Given the description of an element on the screen output the (x, y) to click on. 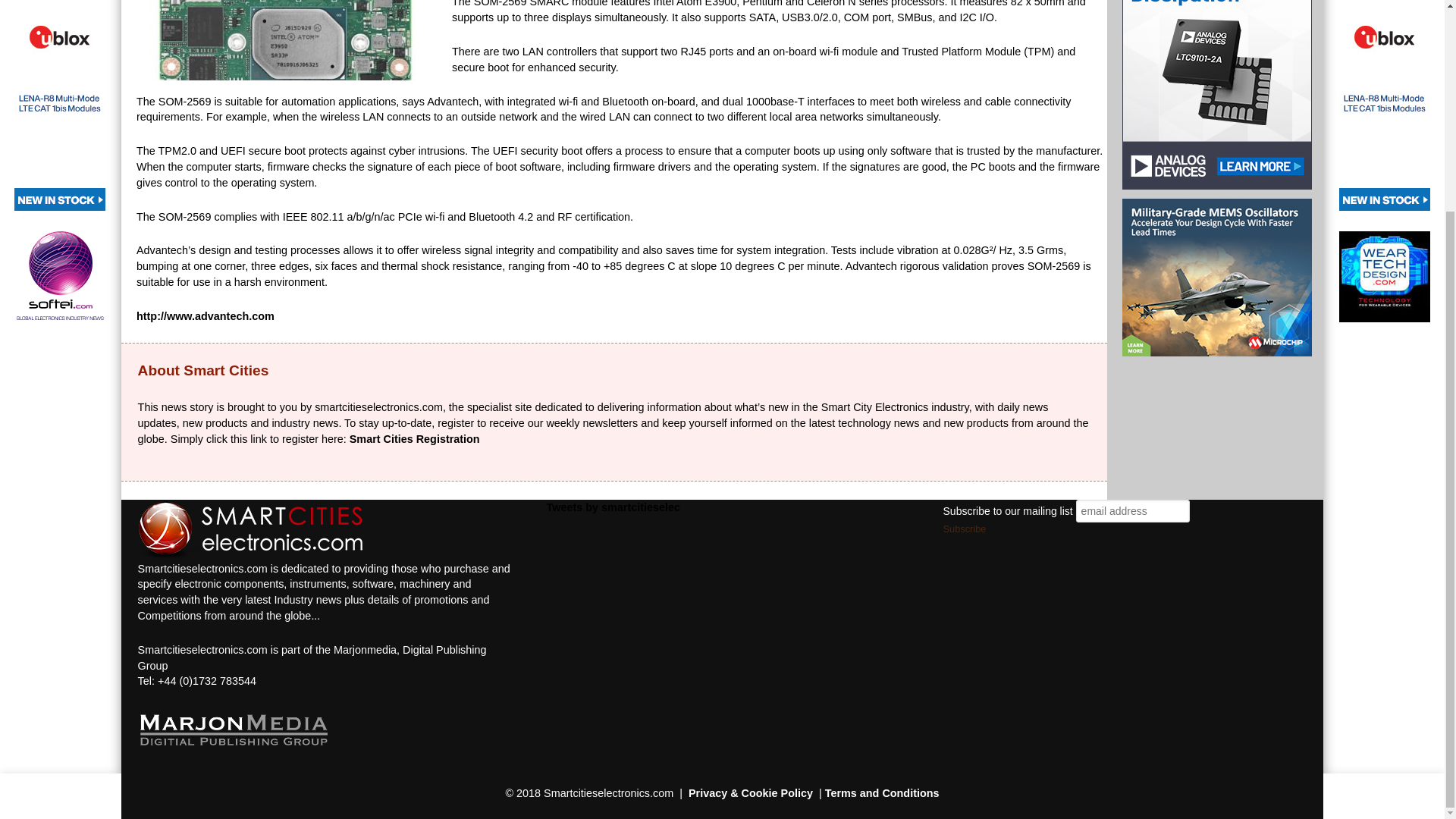
Subscribe (965, 529)
Accept (995, 523)
Subscribe (965, 529)
Read More (1051, 522)
advertisement (59, 105)
Smart Cities Registration (414, 439)
Terms and Conditions (882, 793)
Tweets by smartcitieselec (612, 507)
advertisement (1384, 105)
